Given the description of an element on the screen output the (x, y) to click on. 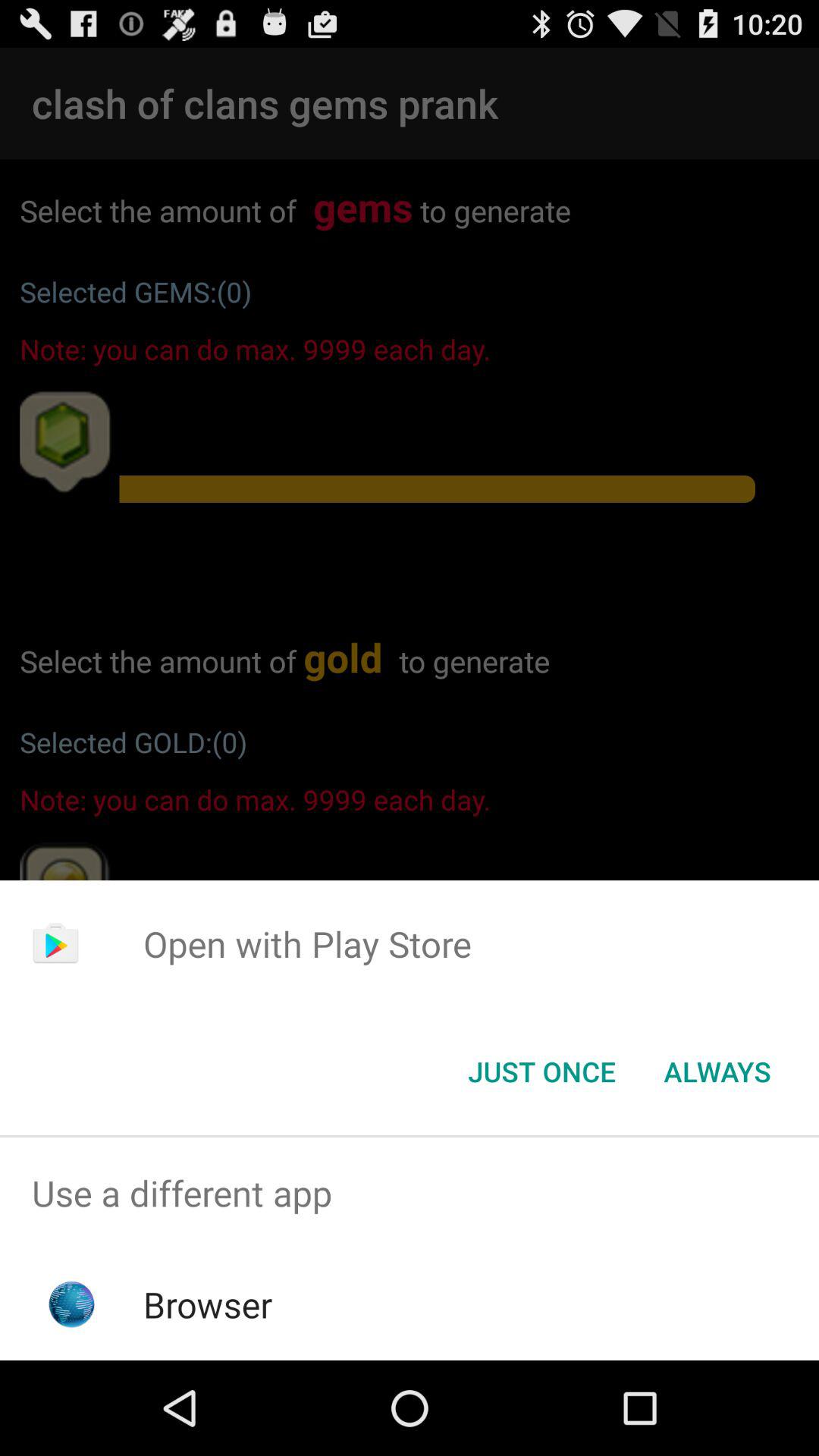
click the app below open with play icon (717, 1071)
